Given the description of an element on the screen output the (x, y) to click on. 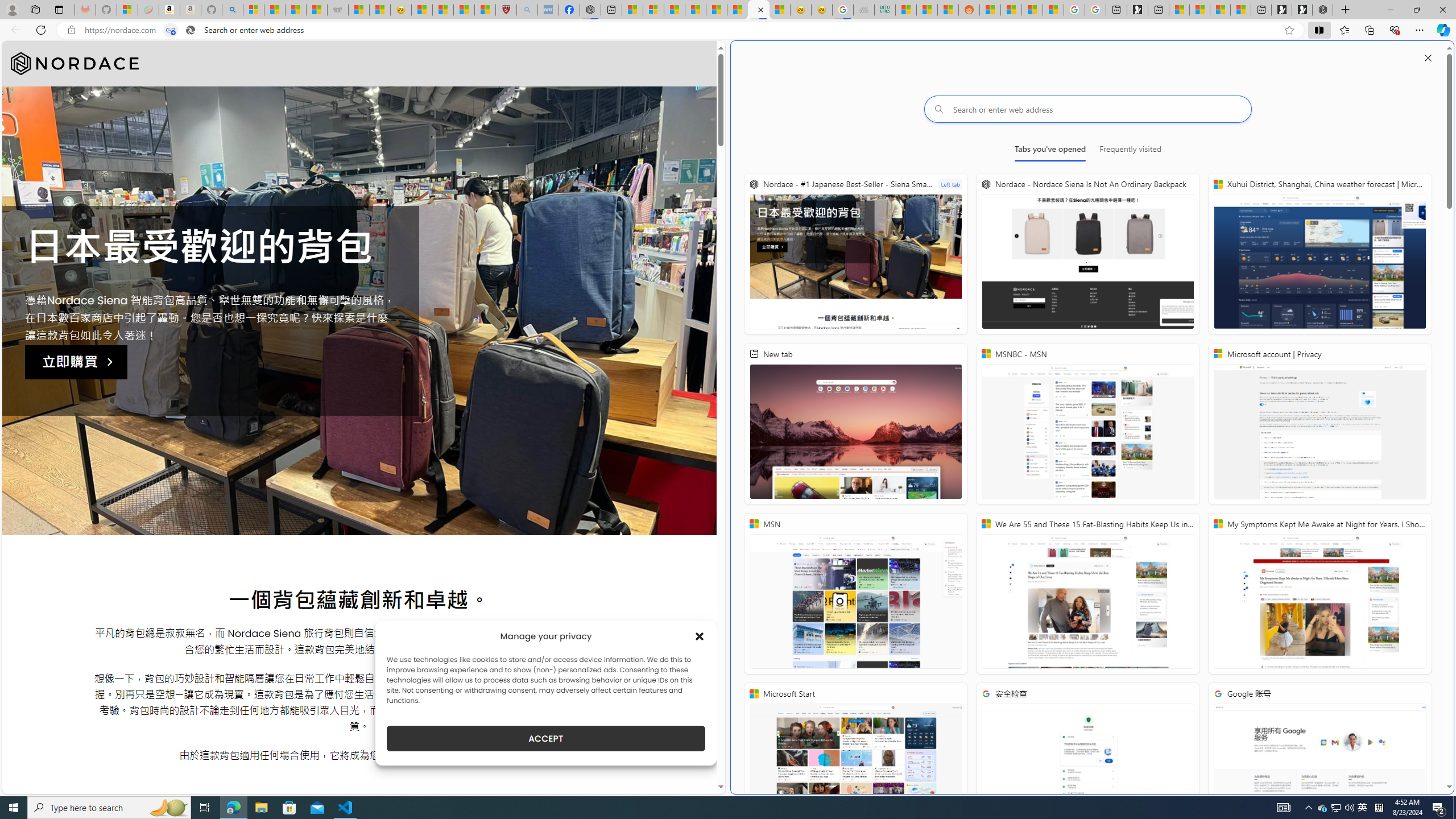
NCL Adult Asthma Inhaler Choice Guideline - Sleeping (547, 9)
Stocks - MSN (316, 9)
New tab (855, 423)
These 3 Stocks Pay You More Than 5% to Own Them (1240, 9)
Address and search bar (681, 29)
Back (13, 29)
Microsoft Start Gaming (1137, 9)
Favorites (1344, 29)
